Given the description of an element on the screen output the (x, y) to click on. 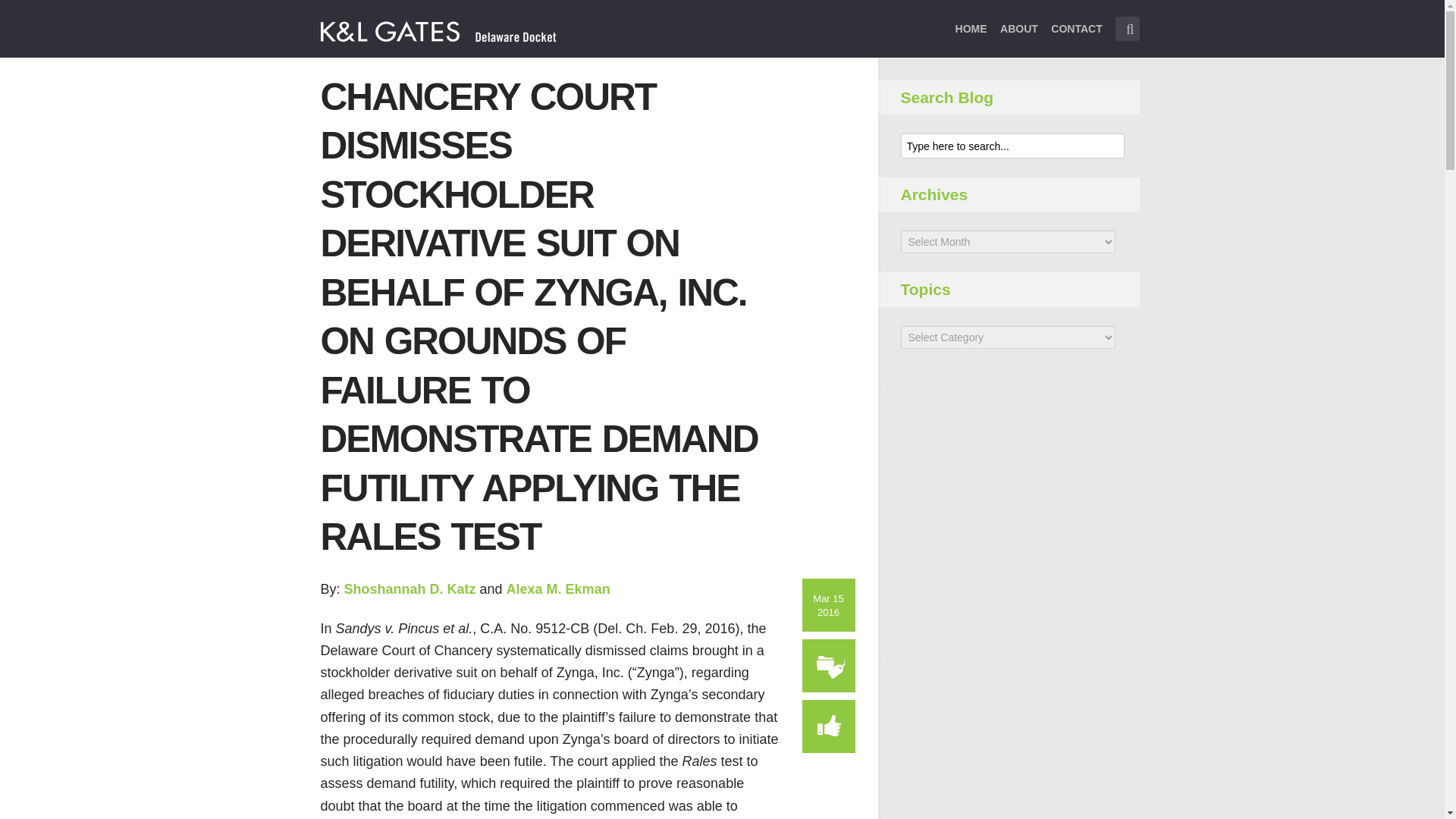
Shoshannah D. Katz (409, 589)
Type here to search... (1012, 145)
Type here to search... (1126, 28)
Type here to search... (1126, 28)
Alexa M. Ekman (558, 589)
Type here to search... (1012, 145)
ABOUT (1019, 37)
CONTACT (1076, 37)
Delaware Docket (438, 30)
